Given the description of an element on the screen output the (x, y) to click on. 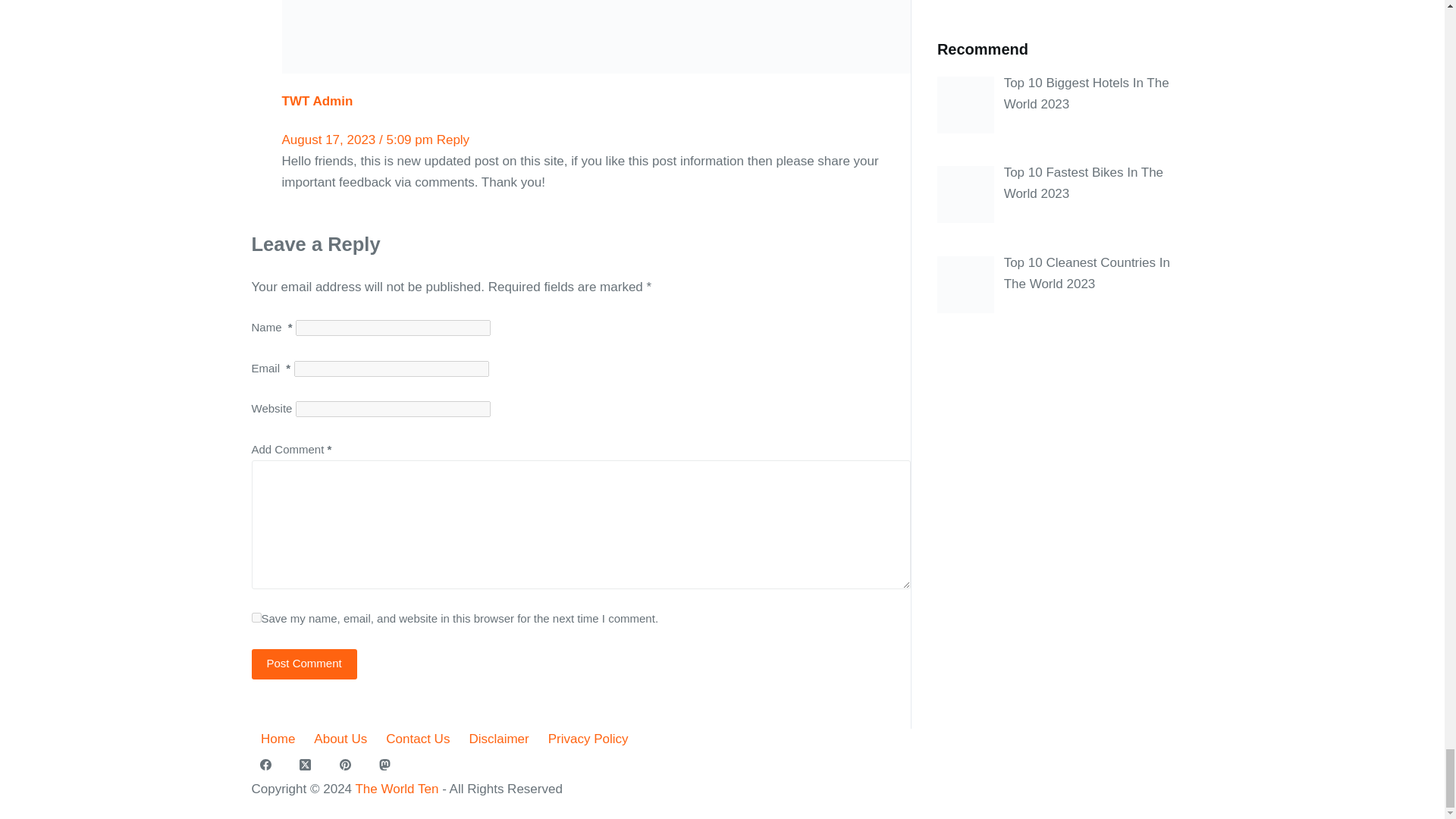
yes (256, 617)
